Given the description of an element on the screen output the (x, y) to click on. 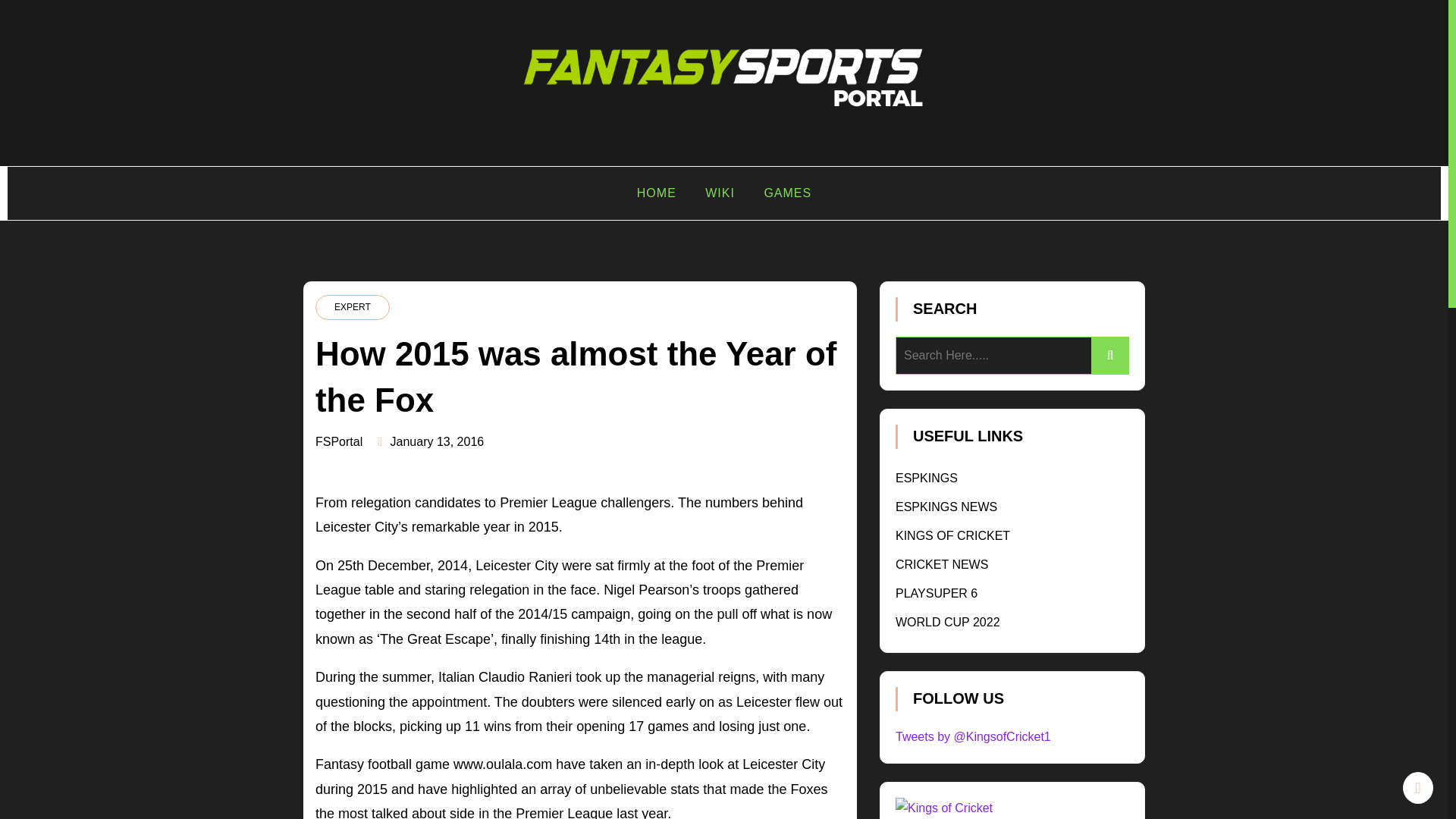
KINGS OF CRICKET (952, 535)
FANTASY SPORTS PORTAL (453, 140)
FSPortal (338, 440)
January 13, 2016 (437, 440)
ESPKINGS (926, 477)
HOME (656, 193)
CRICKET NEWS (941, 563)
WIKI (720, 193)
ESPKINGS NEWS (946, 506)
PLAYSUPER 6 (935, 593)
EXPERT (352, 306)
WORLD CUP 2022 (947, 621)
GAMES (787, 193)
